Given the description of an element on the screen output the (x, y) to click on. 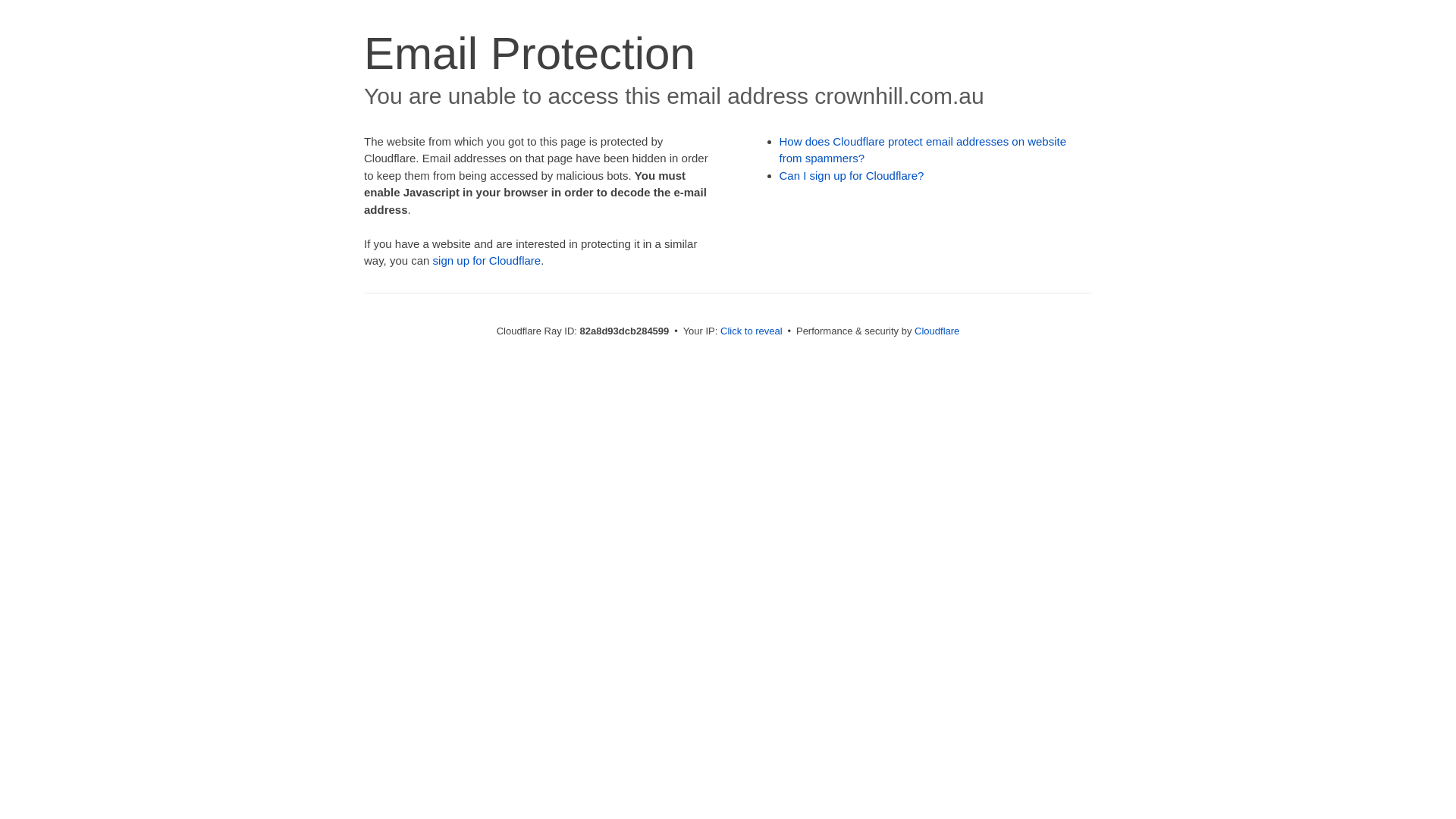
Click to reveal Element type: text (751, 330)
Cloudflare Element type: text (936, 330)
Can I sign up for Cloudflare? Element type: text (851, 175)
sign up for Cloudflare Element type: text (487, 260)
